Given the description of an element on the screen output the (x, y) to click on. 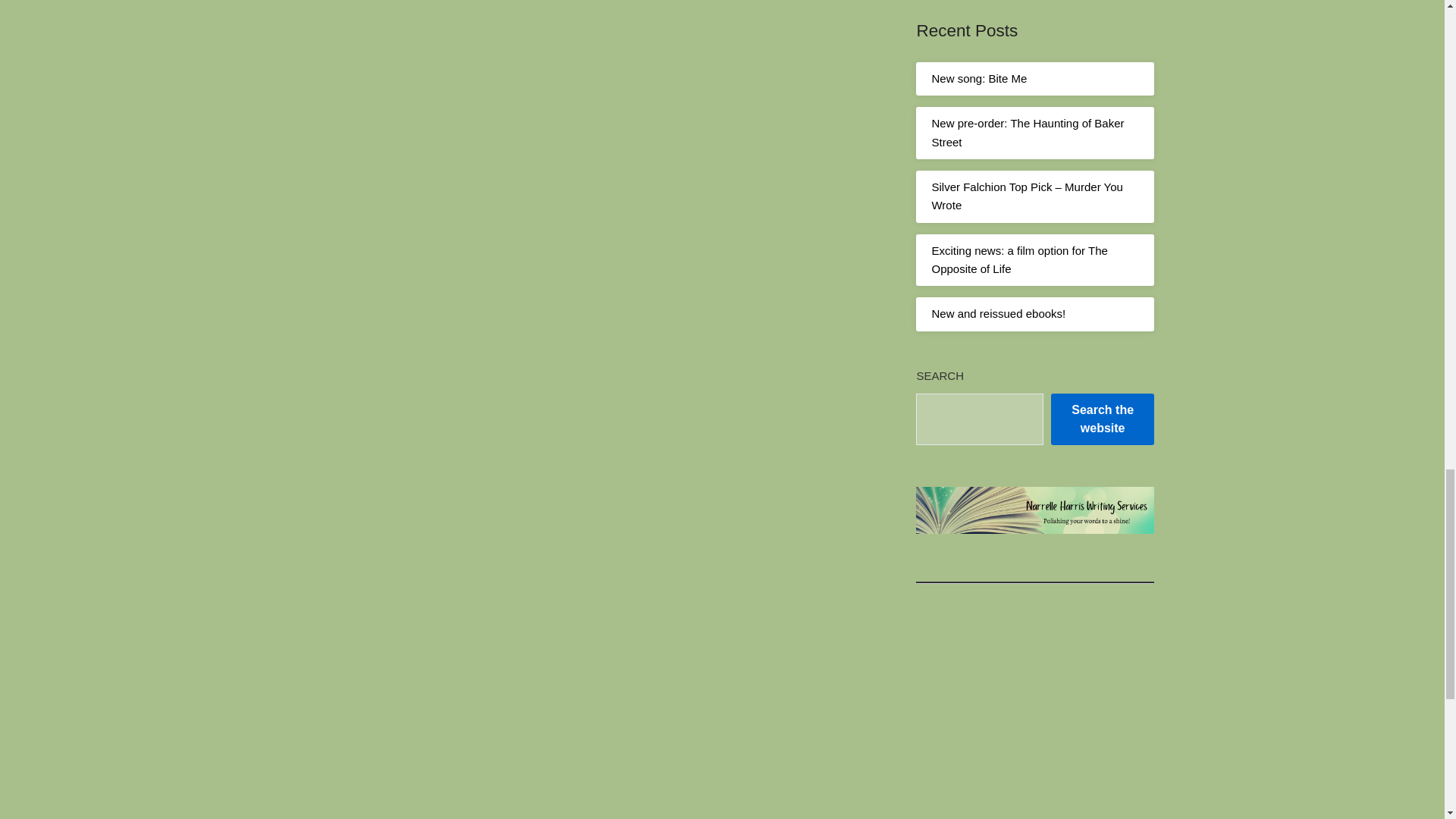
Songs from Duo Ex Machina (1034, 730)
